Given the description of an element on the screen output the (x, y) to click on. 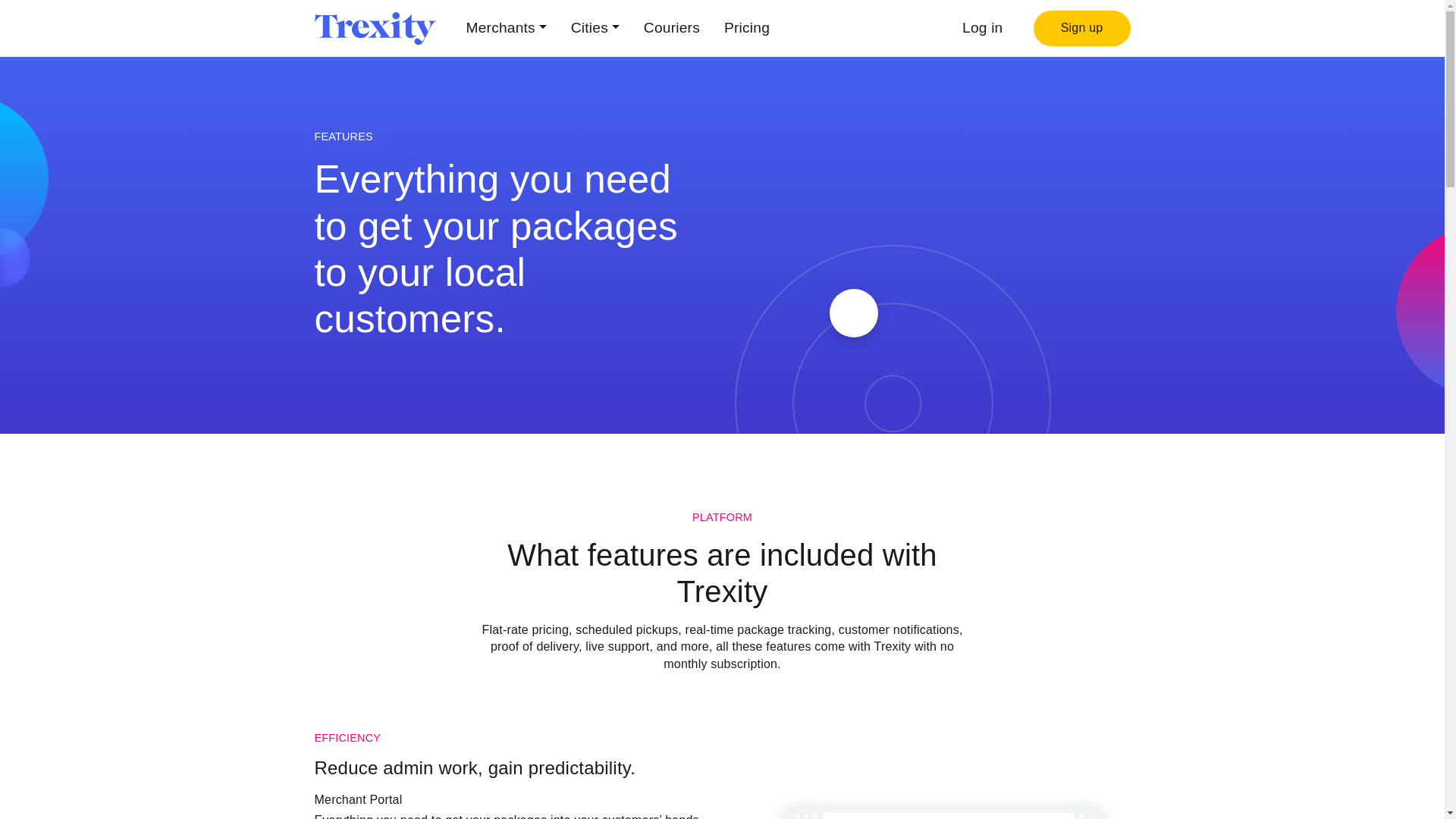
Log in (982, 27)
Sign up (1080, 28)
Merchants (504, 27)
Couriers (671, 27)
Cities (595, 27)
Pricing (746, 27)
